Given the description of an element on the screen output the (x, y) to click on. 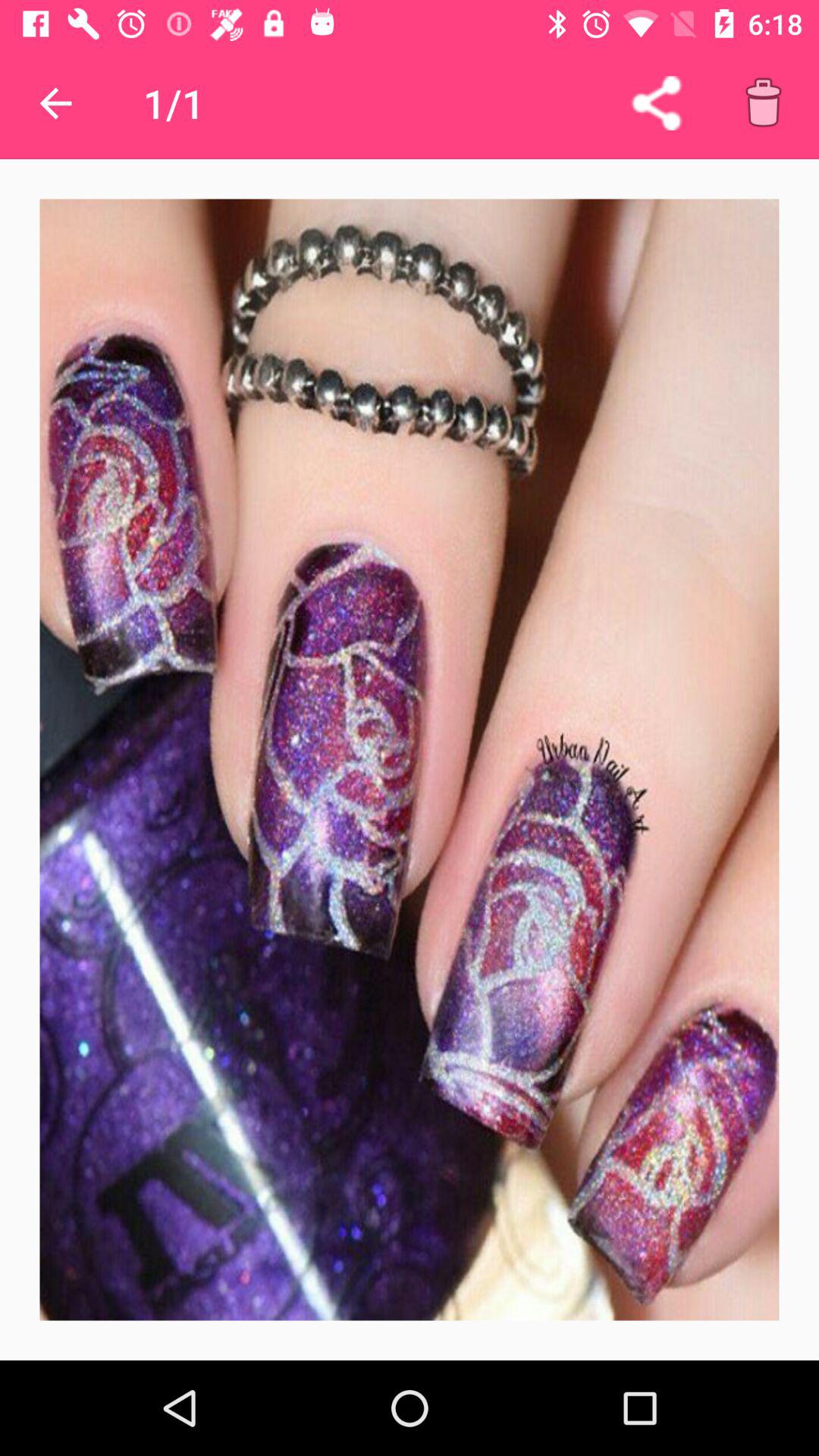
delete this item (763, 103)
